Given the description of an element on the screen output the (x, y) to click on. 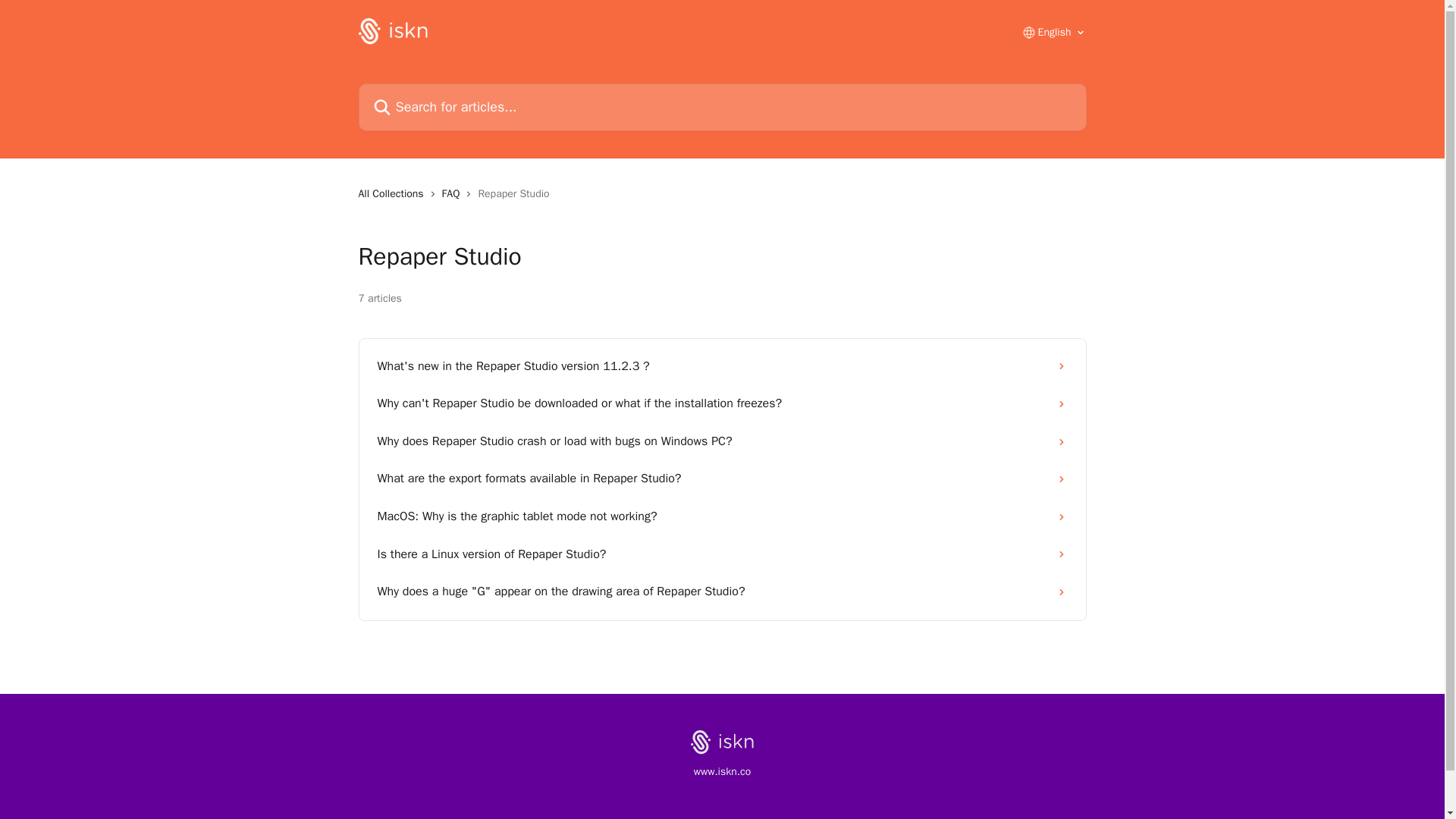
MacOS: Why is the graphic tablet mode not working? (722, 516)
What's new in the Repaper Studio version 11.2.3 ? (722, 366)
FAQ (453, 193)
Is there a Linux version of Repaper Studio? (722, 555)
All Collections (393, 193)
What are the export formats available in Repaper Studio? (722, 478)
